Given the description of an element on the screen output the (x, y) to click on. 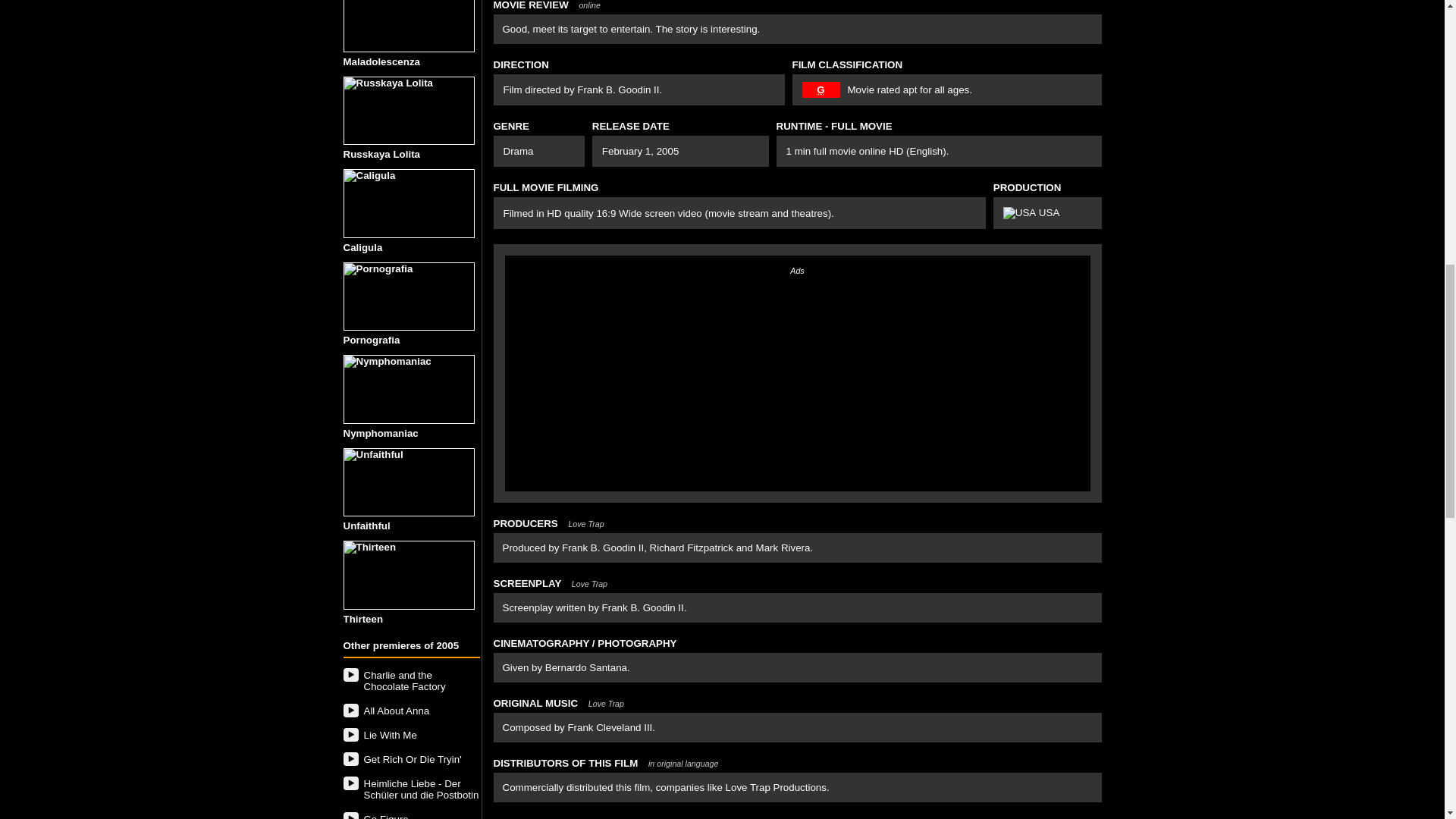
Russkaya Lolita, movie (408, 110)
Maladolescenza (410, 33)
All About Anna (410, 710)
All About Anna, online movie (410, 710)
Get Rich Or Die Tryin', online movie (410, 759)
Unfaithful, movie (408, 481)
Caligula, movie (408, 203)
Unfaithful (410, 489)
Lie With Me, online movie (410, 735)
Nymphomaniac, movie (408, 389)
Maladolescenza, movie (408, 26)
Pornografia (410, 304)
Thirteen (410, 582)
Nymphomaniac (410, 396)
Caligula (410, 210)
